Given the description of an element on the screen output the (x, y) to click on. 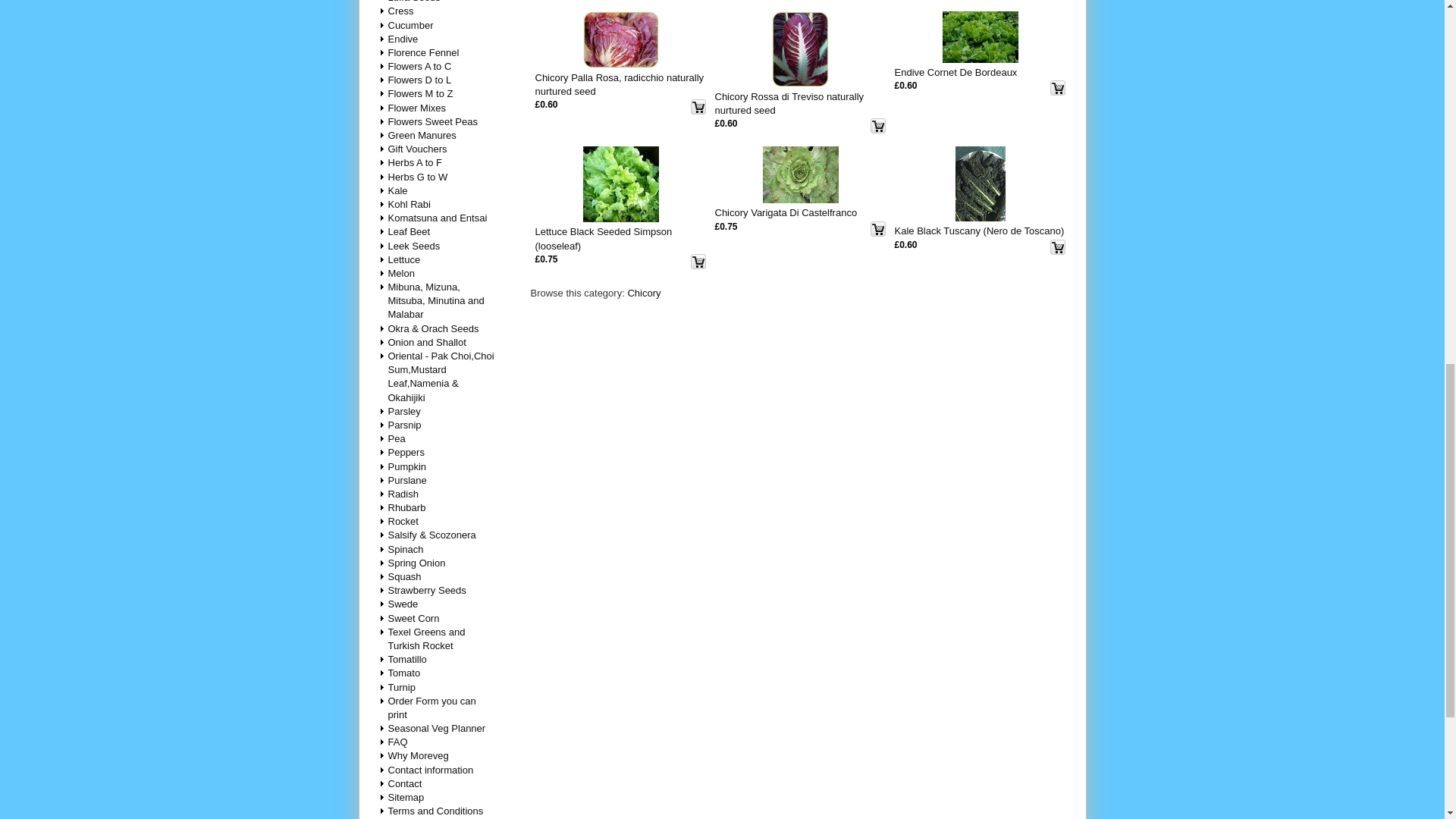
Chicory Palla Rosa, radicchio naturally nurtured seed (620, 39)
Florence Fennel (424, 51)
Flowers D to L (420, 79)
Endive Cornet De Bordeaux (979, 37)
Chicory Varigata Di Castelfranco (800, 174)
Add to basket (1056, 246)
Cress (401, 10)
Flowers A to C (420, 65)
Add to basket (1056, 87)
Cucumber (411, 24)
